Given the description of an element on the screen output the (x, y) to click on. 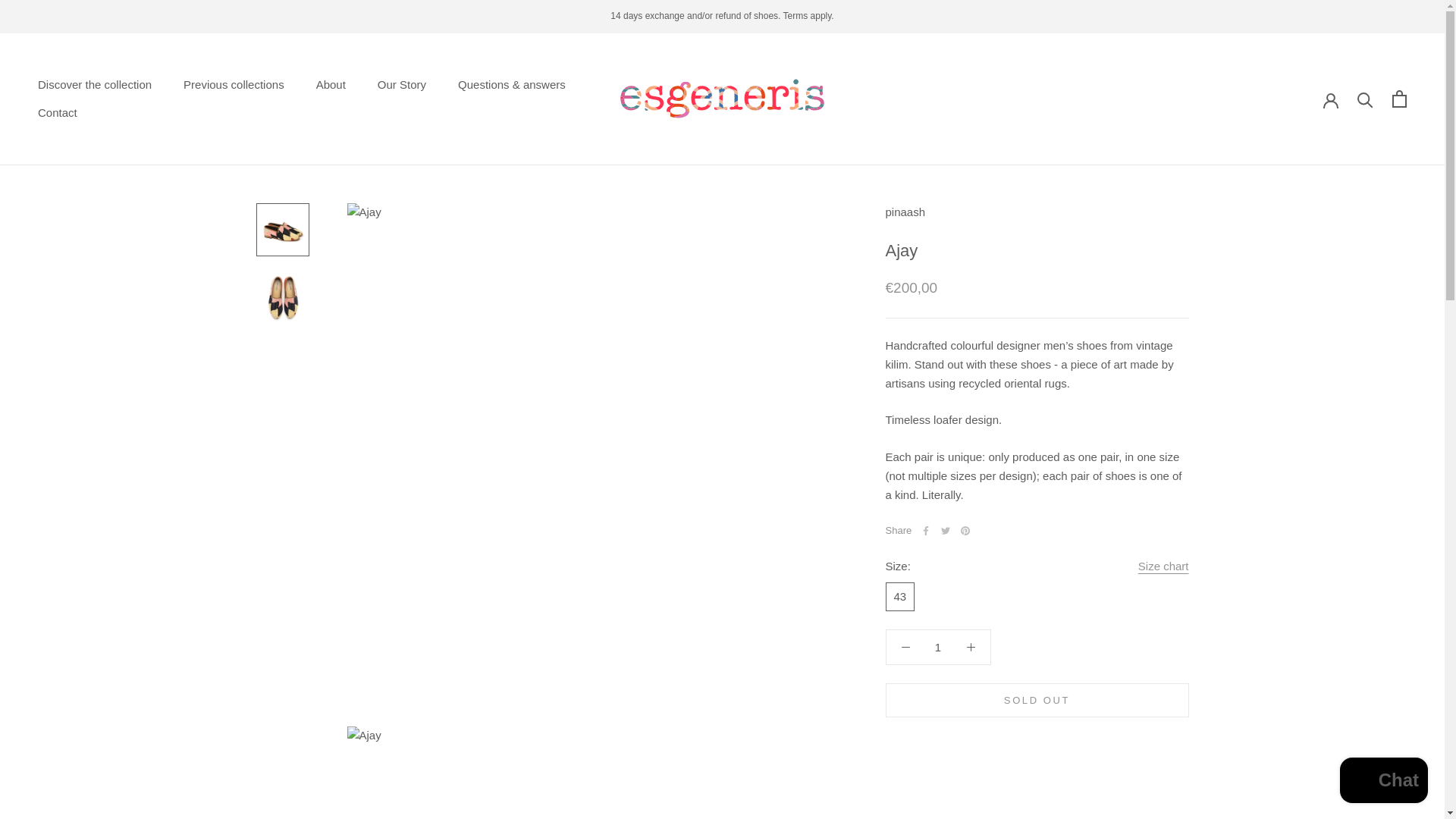
Size chart (1163, 566)
Shopify online store chat (57, 112)
1 (330, 83)
